Given the description of an element on the screen output the (x, y) to click on. 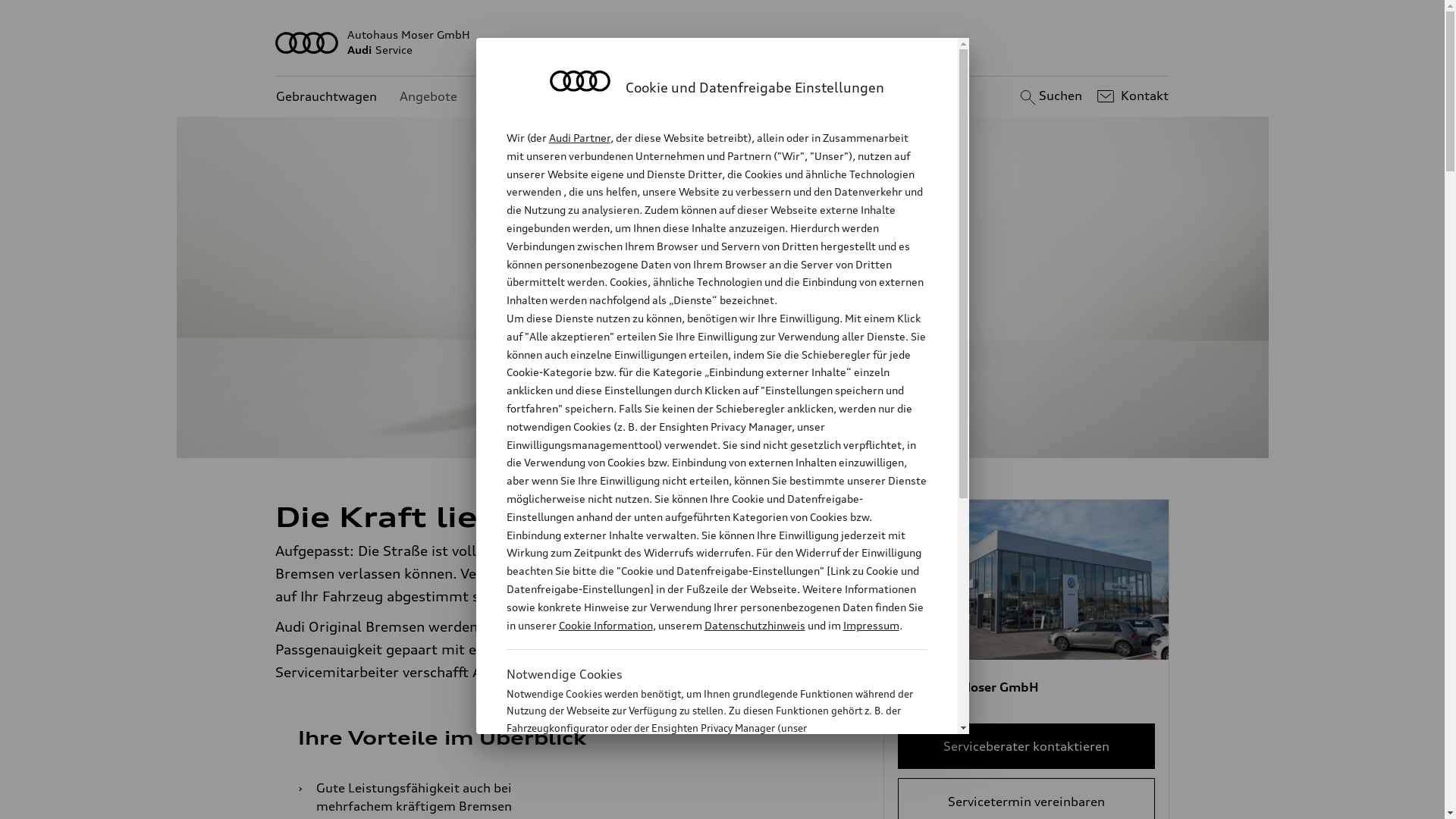
Impressum Element type: text (871, 624)
Kundenservice Element type: text (523, 96)
Gebrauchtwagen Element type: text (326, 96)
Angebote Element type: text (428, 96)
Cookie Information Element type: text (700, 802)
Autohaus Moser GmbH
AudiService Element type: text (722, 42)
Suchen Element type: text (1049, 96)
Kontakt Element type: text (1130, 96)
Datenschutzhinweis Element type: text (753, 624)
Serviceberater kontaktieren Element type: text (1025, 745)
Cookie Information Element type: text (605, 624)
Audi Partner Element type: text (579, 137)
